Given the description of an element on the screen output the (x, y) to click on. 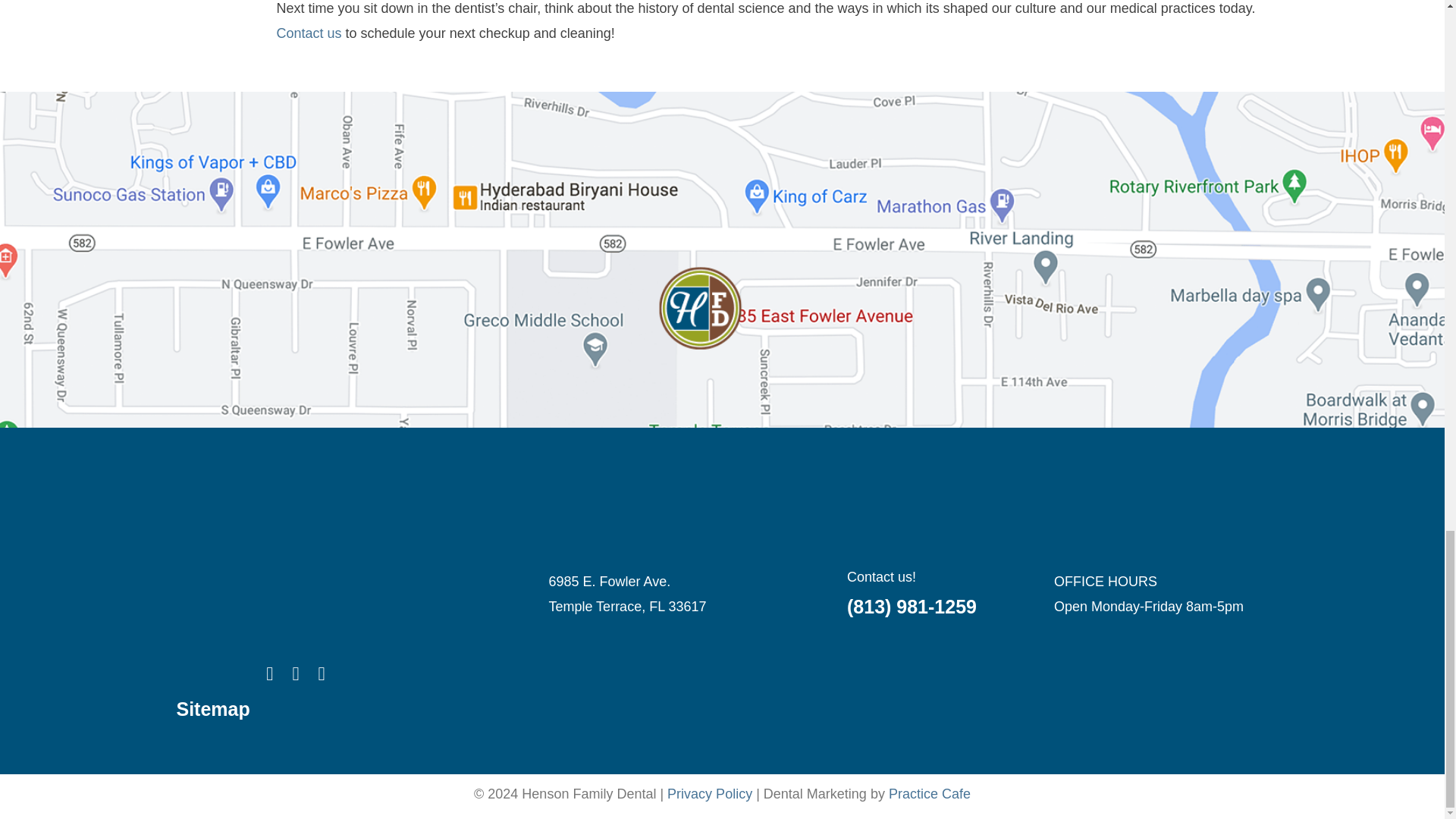
Practice Cafe (929, 793)
Sitemap (212, 708)
Contact us (308, 32)
Privacy Policy (709, 793)
